Given the description of an element on the screen output the (x, y) to click on. 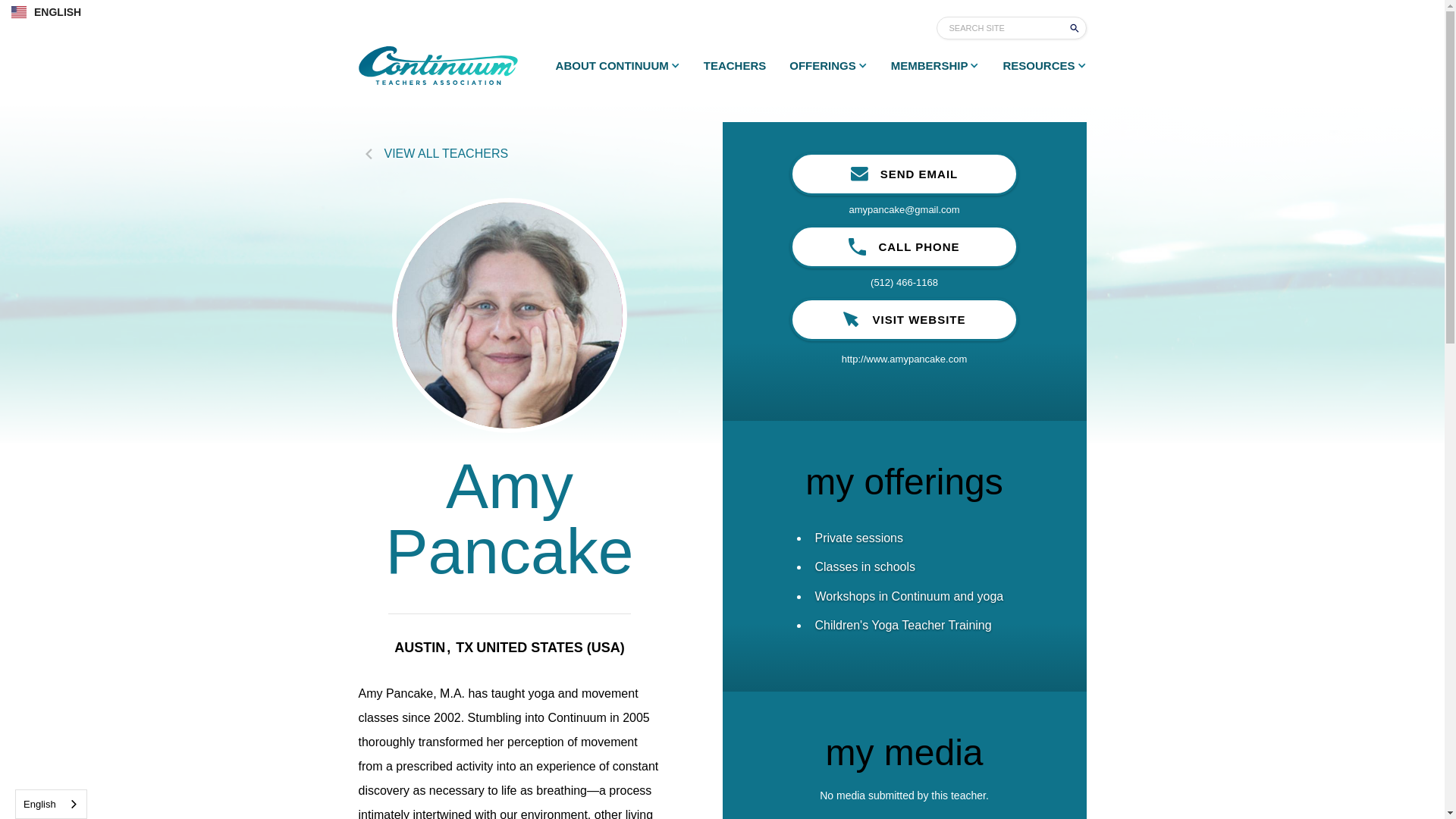
TEACHERS (723, 65)
VIEW ALL TEACHERS (509, 153)
